Given the description of an element on the screen output the (x, y) to click on. 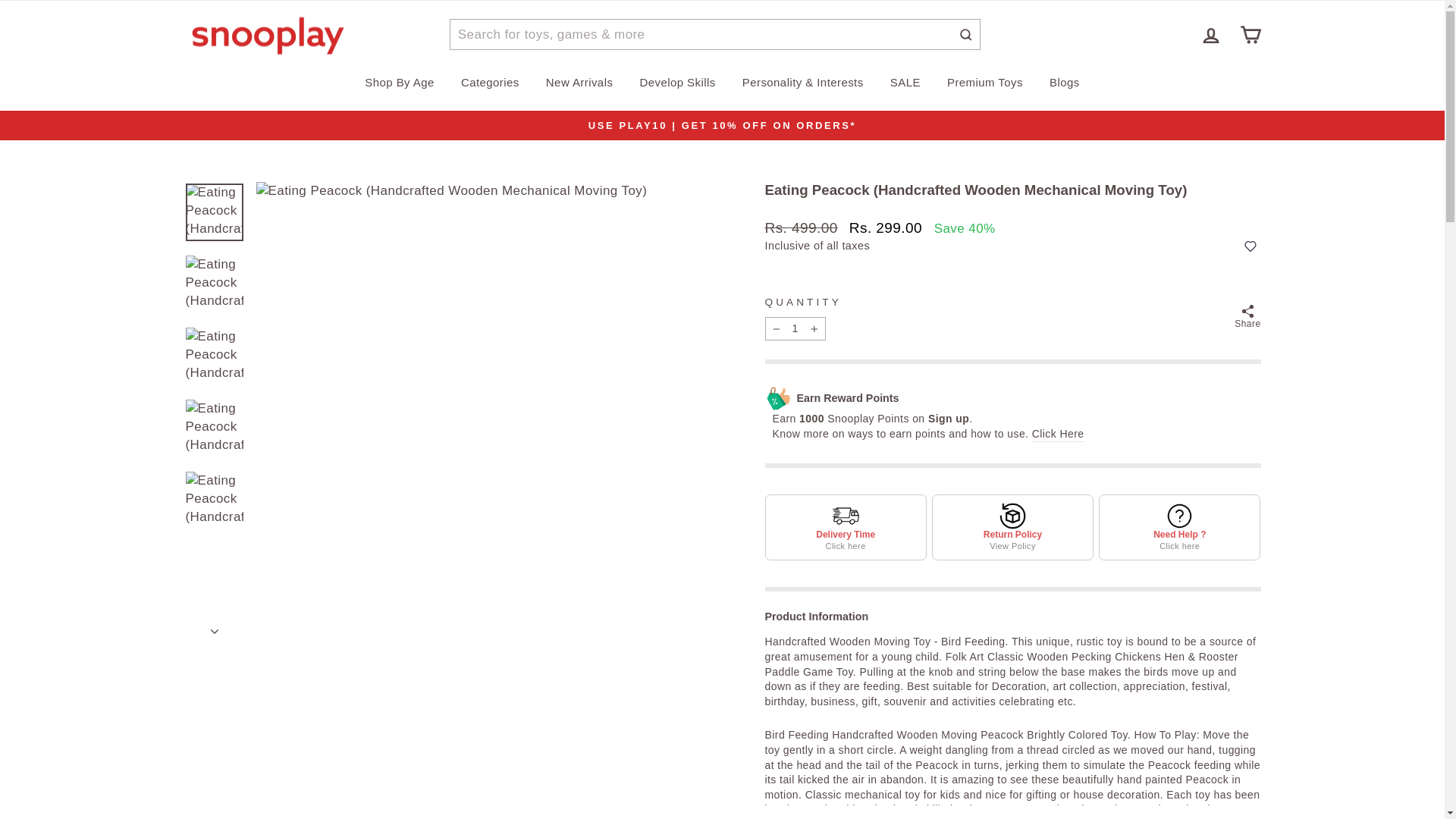
Share on Facebook (1247, 317)
1 (794, 328)
